Given the description of an element on the screen output the (x, y) to click on. 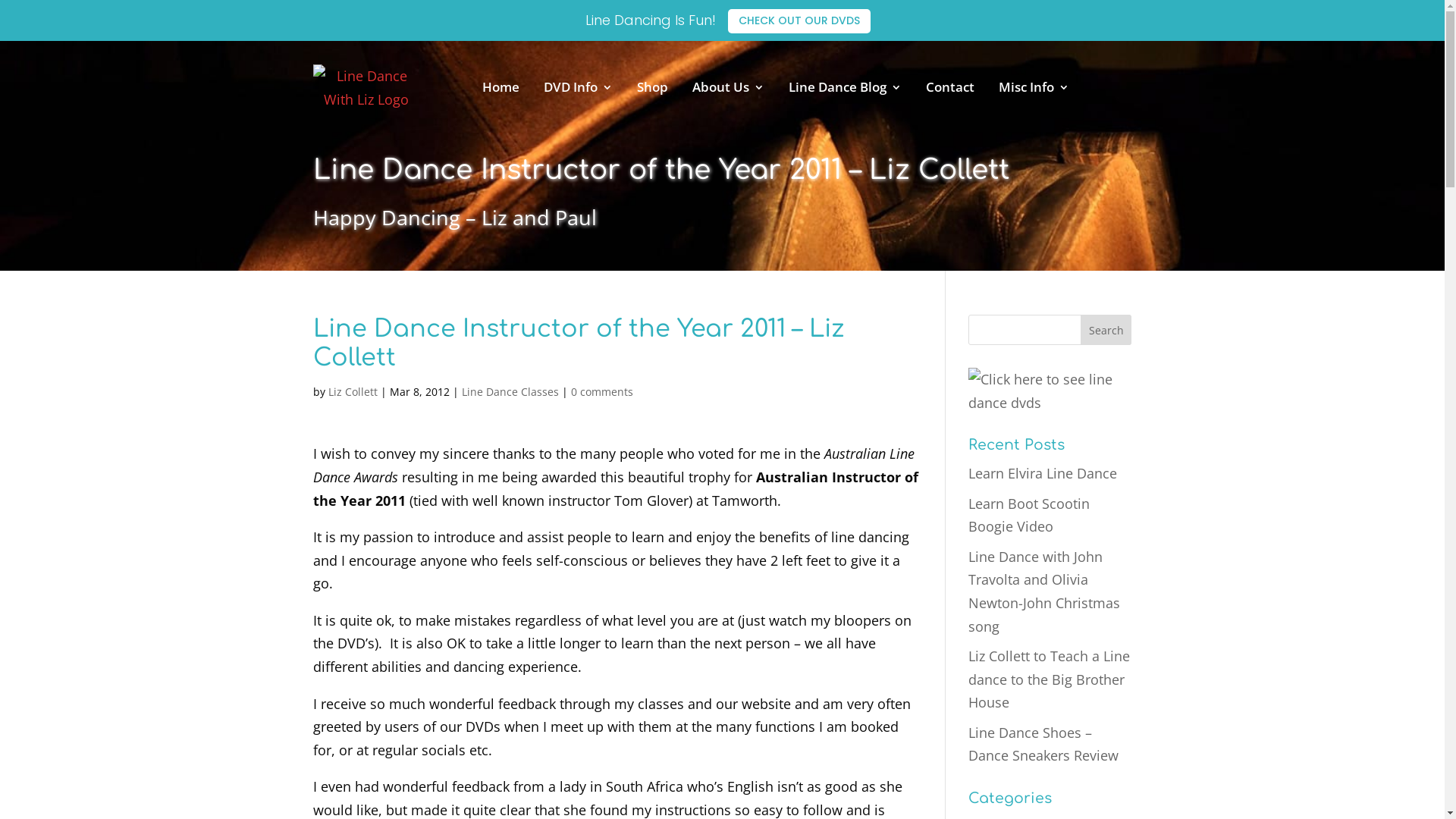
DVD Info Element type: text (576, 86)
Contact Element type: text (949, 86)
0 comments Element type: text (601, 391)
Liz Collett Element type: text (351, 391)
Line Dance Blog Element type: text (844, 86)
Learn Boot Scootin Boogie Video Element type: text (1028, 515)
Misc Info Element type: text (1032, 86)
Learn Elvira Line Dance Element type: text (1042, 473)
Liz Collett to Teach a Line dance to the Big Brother House Element type: text (1048, 678)
Search Element type: text (1106, 329)
CHECK OUT OUR DVDS Element type: text (799, 21)
Home Element type: text (500, 86)
Line Dance Classes Element type: text (509, 391)
About Us Element type: text (727, 86)
Shop Element type: text (652, 86)
